Given the description of an element on the screen output the (x, y) to click on. 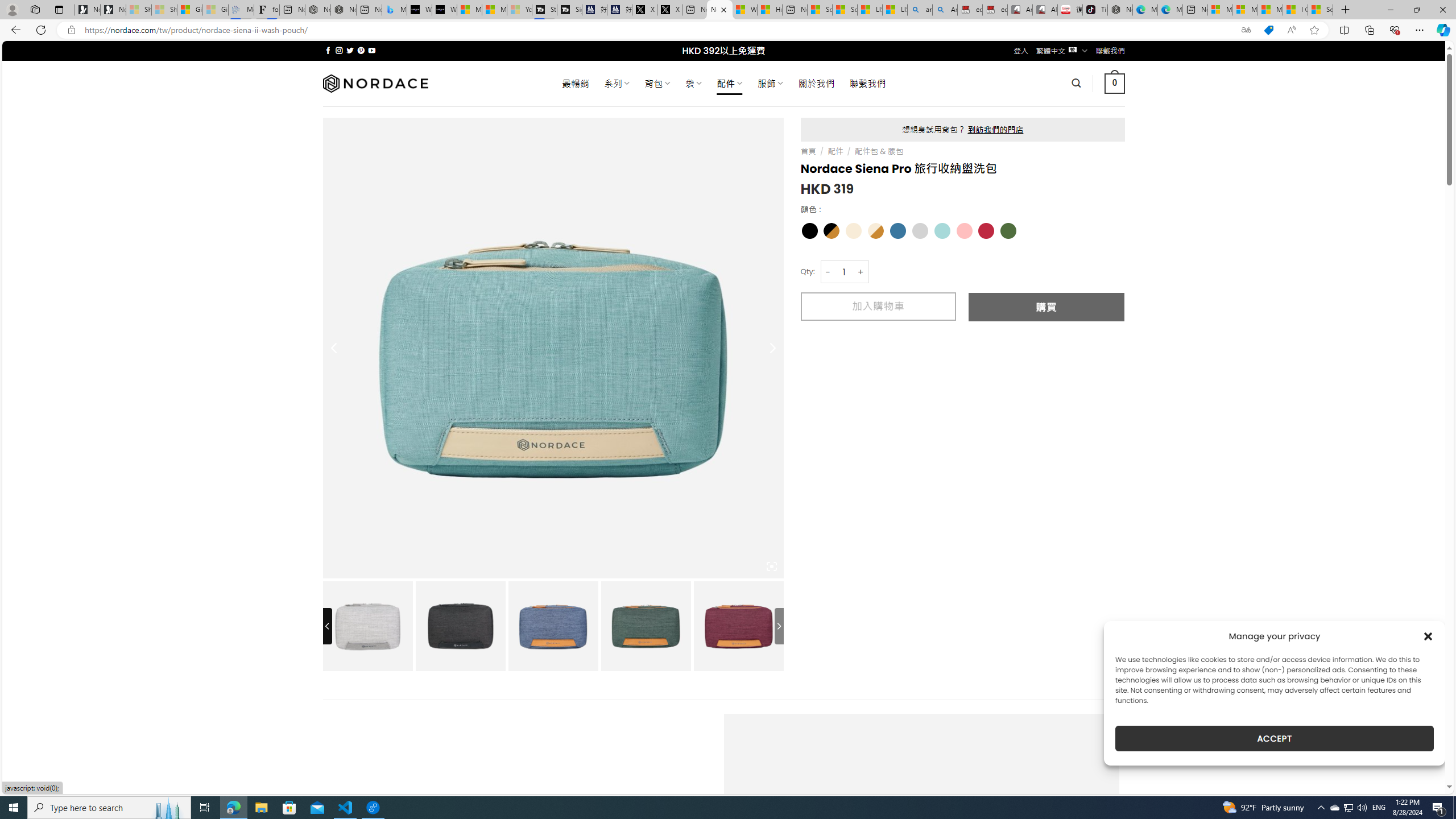
- (827, 272)
Follow on Facebook (327, 50)
TikTok (1094, 9)
